Given the description of an element on the screen output the (x, y) to click on. 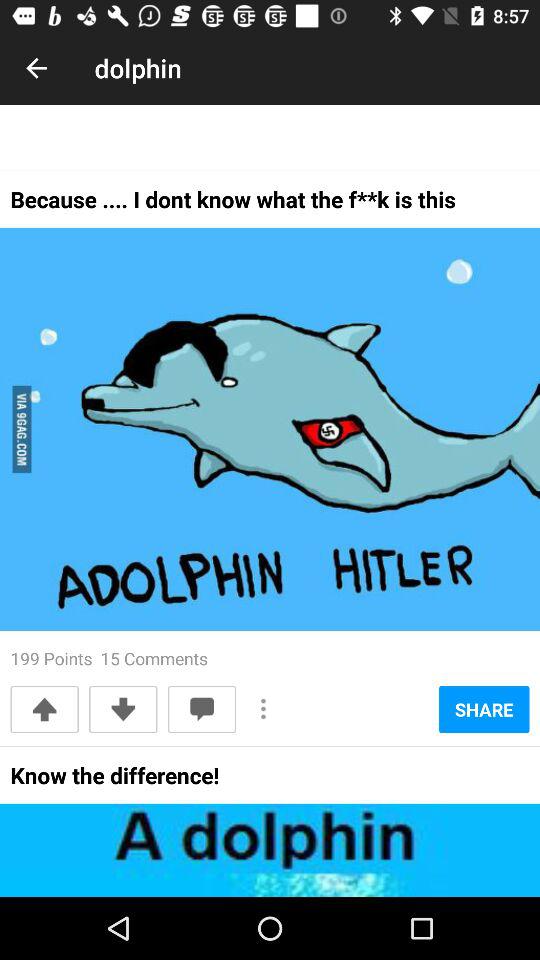
click the icon next to dolphin item (36, 68)
